Given the description of an element on the screen output the (x, y) to click on. 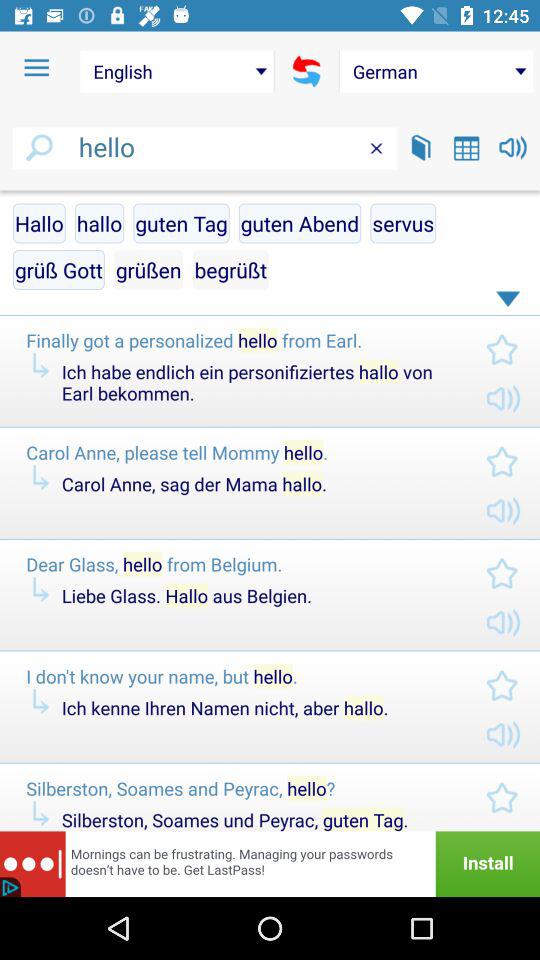
swipe until liebe glass hallo (257, 595)
